Given the description of an element on the screen output the (x, y) to click on. 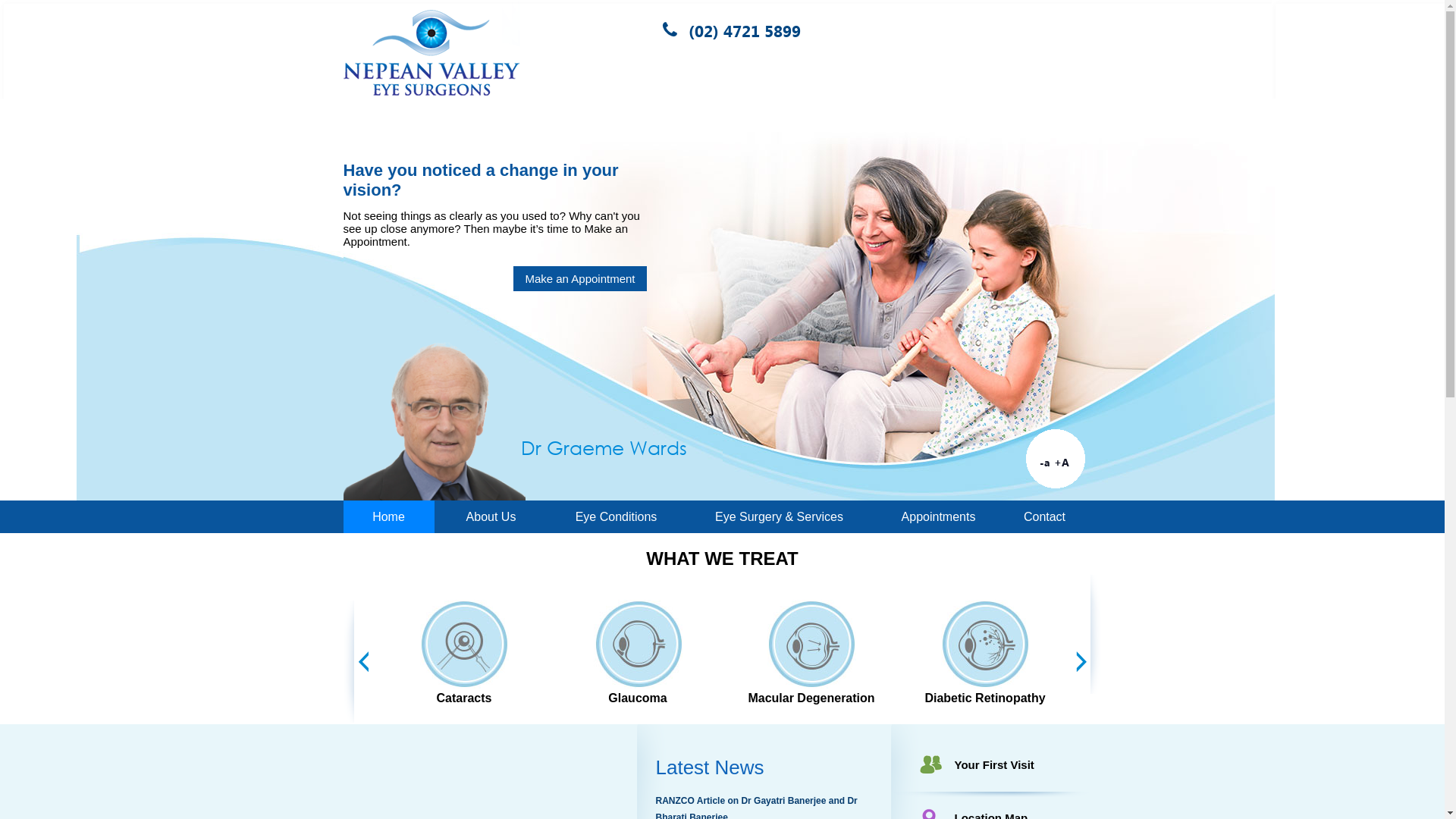
Read More Element type: text (606, 245)
Appointments Element type: text (937, 516)
Eye Conditions Element type: text (615, 516)
Your First Visit Element type: text (993, 764)
Pediatric Eye Examinations Element type: text (436, 691)
(02) 4721 5899 Element type: text (738, 30)
Macular Degeneration Element type: text (429, 169)
Eye Surgery & Services Element type: text (778, 516)
Glaucoma Element type: text (775, 691)
-a Element type: text (1044, 462)
Dr Gayatri Banerjee Element type: text (610, 446)
Home Element type: text (387, 516)
Latest News Element type: text (709, 767)
Macular Degeneration Element type: text (946, 691)
Cataracts Element type: text (607, 691)
Contact Element type: text (1043, 516)
+A Element type: text (1061, 462)
About Us Element type: text (490, 516)
